Given the description of an element on the screen output the (x, y) to click on. 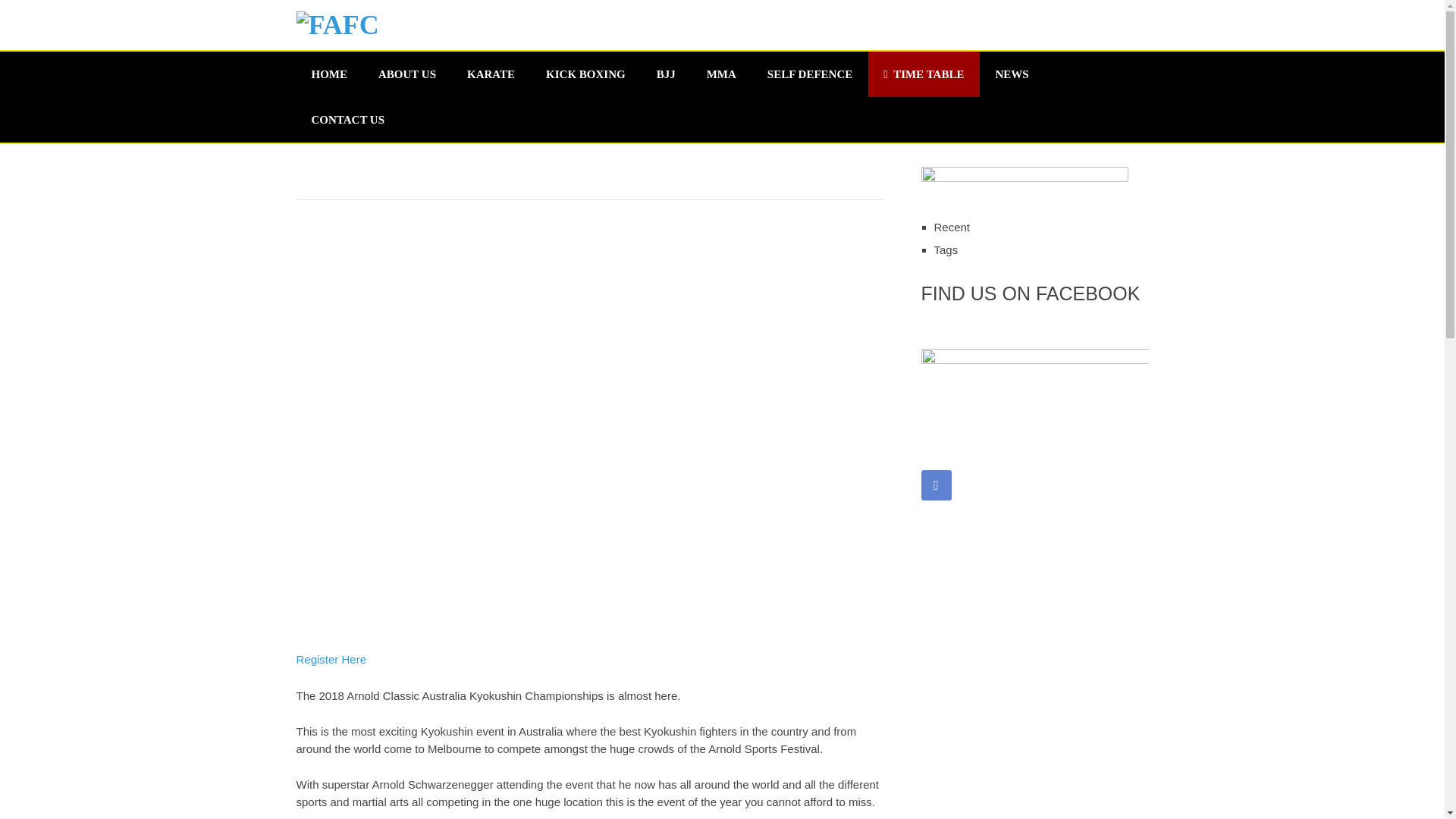
Recent (952, 226)
Register Here (330, 658)
SELF DEFENCE (809, 74)
BJJ (666, 74)
HOME (328, 74)
KARATE (490, 74)
Facebook (935, 485)
KICK BOXING (585, 74)
CONTACT US (346, 119)
ABOUT US (406, 74)
